Given the description of an element on the screen output the (x, y) to click on. 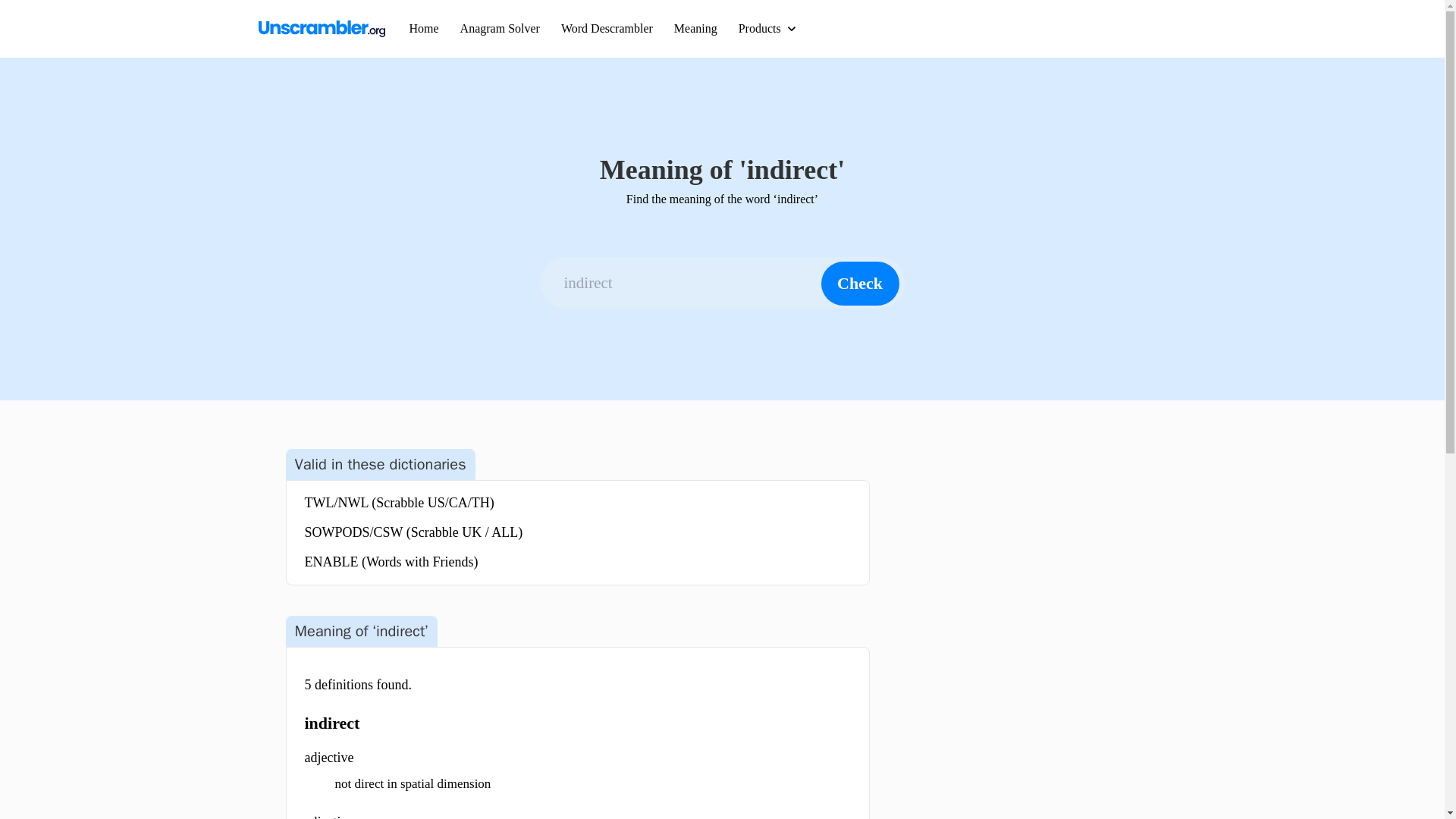
Check (859, 283)
Home (424, 28)
Anagram Solver (500, 28)
Meaning (695, 28)
Word Descrambler (606, 28)
